Given the description of an element on the screen output the (x, y) to click on. 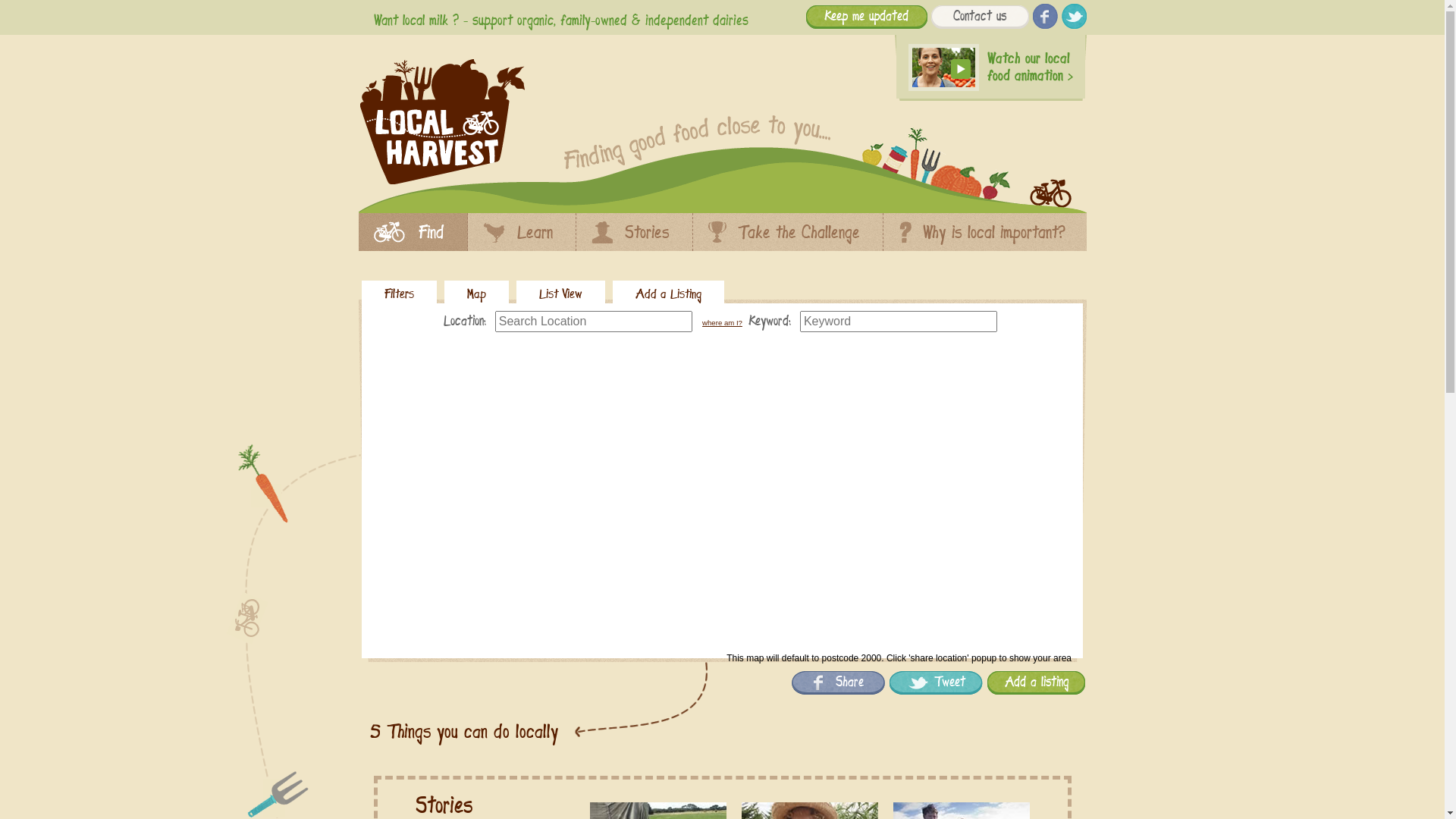
Why is local important? Element type: text (982, 238)
Take the Challenge Element type: text (787, 238)
Stories Element type: text (634, 238)
Keep me updated Element type: text (865, 17)
Add a Listing Element type: text (668, 295)
Map Element type: text (476, 295)
Contact us Element type: text (980, 17)
Share Element type: text (838, 682)
Tweet Element type: text (935, 683)
Filters Element type: text (398, 295)
Local Harvest Element type: hover (441, 181)
where am I? Element type: text (722, 322)
Learn Element type: text (520, 238)
List View Element type: text (560, 295)
Add a listing Element type: text (1036, 683)
Find Element type: text (411, 238)
